Given the description of an element on the screen output the (x, y) to click on. 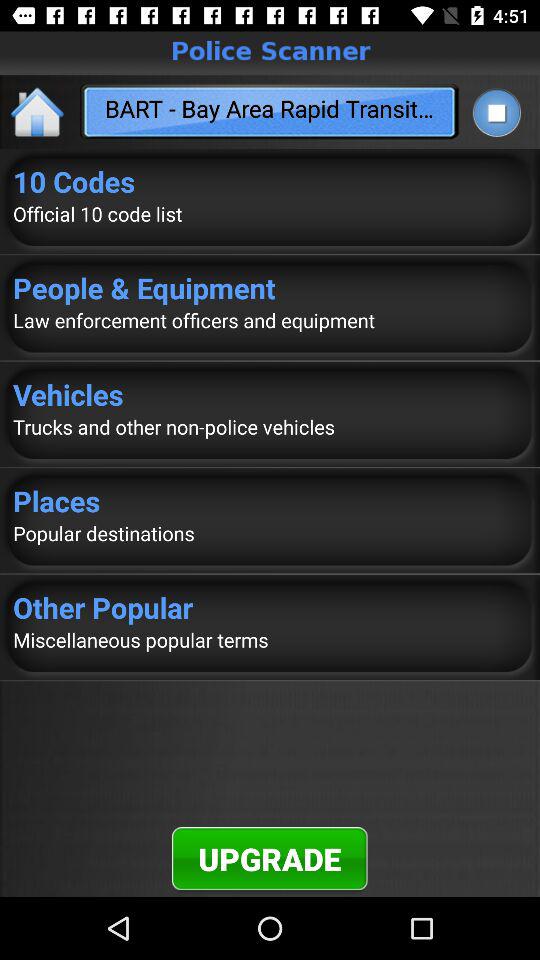
select the item at the top left corner (38, 111)
